Given the description of an element on the screen output the (x, y) to click on. 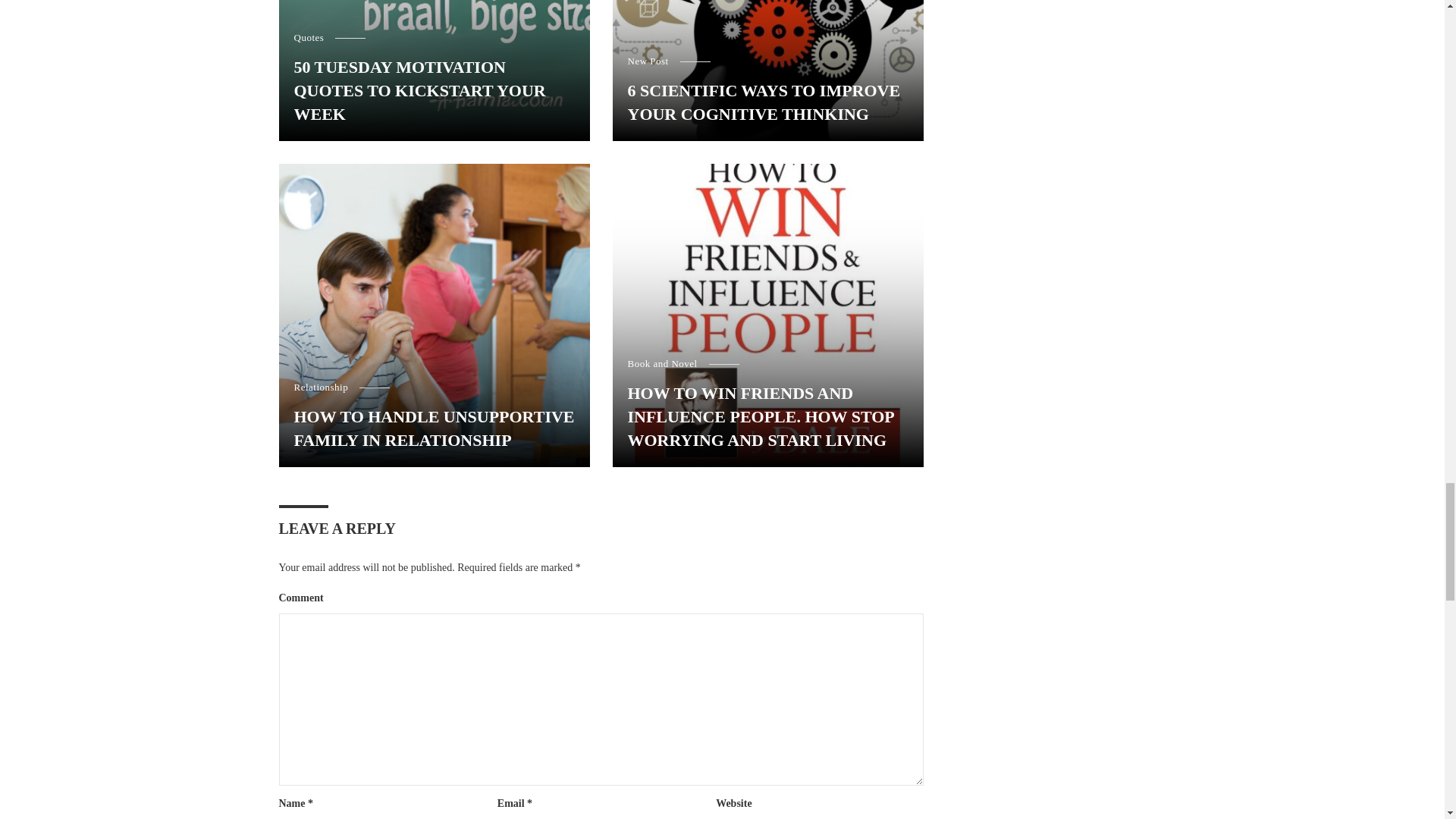
HOW TO HANDLE UNSUPPORTIVE FAMILY IN RELATIONSHIP (434, 428)
Relationship (326, 386)
50 TUESDAY MOTIVATION QUOTES TO KICKSTART YOUR WEEK (434, 91)
Quotes (315, 38)
New Post (653, 60)
6 SCIENTIFIC WAYS TO IMPROVE YOUR COGNITIVE THINKING (767, 102)
